Given the description of an element on the screen output the (x, y) to click on. 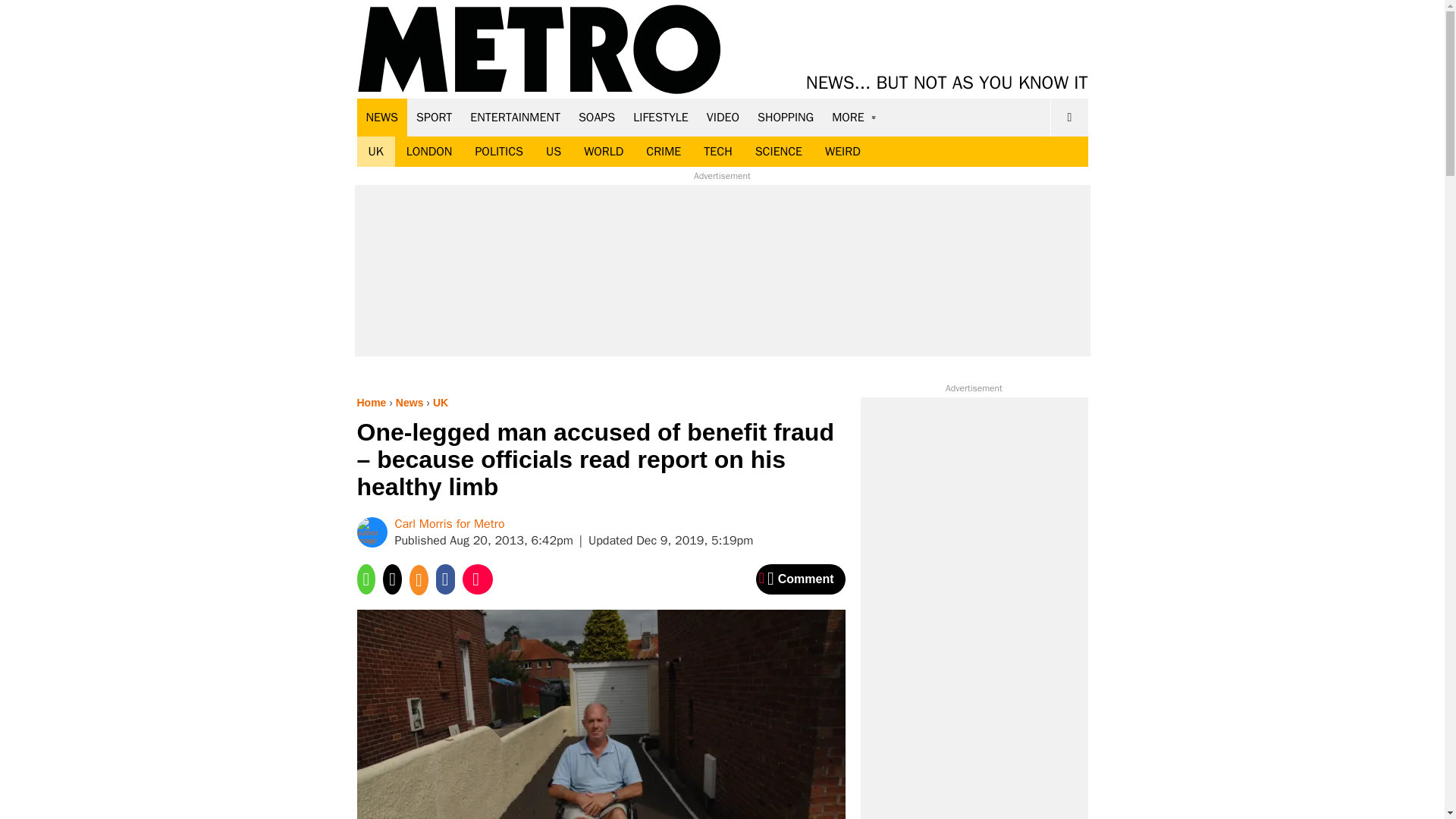
ENTERTAINMENT (515, 117)
LIFESTYLE (660, 117)
TECH (717, 151)
LONDON (429, 151)
CRIME (663, 151)
SCIENCE (778, 151)
US (553, 151)
NEWS (381, 117)
POLITICS (498, 151)
WEIRD (842, 151)
